Given the description of an element on the screen output the (x, y) to click on. 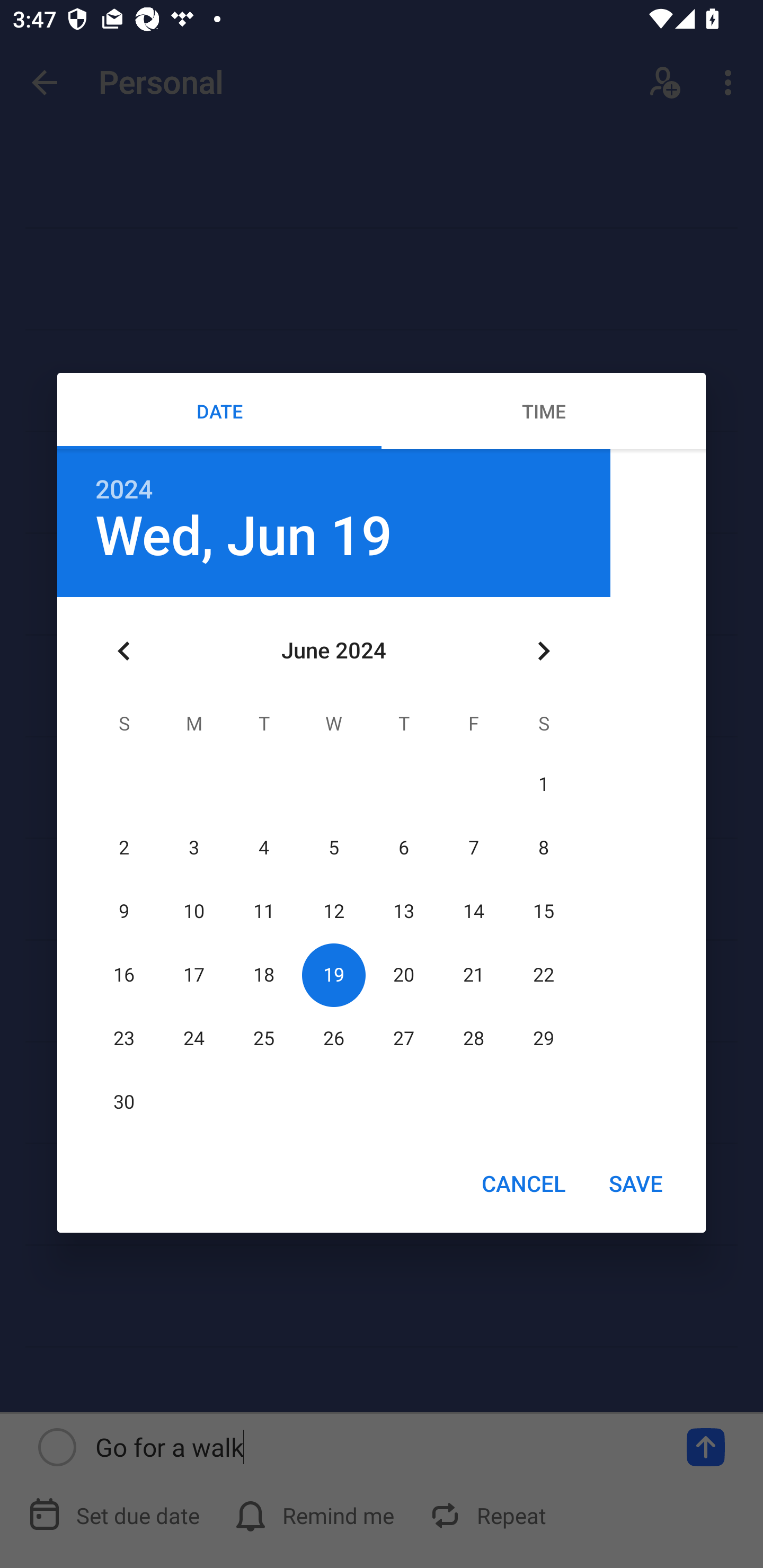
Time TIME (543, 410)
